Given the description of an element on the screen output the (x, y) to click on. 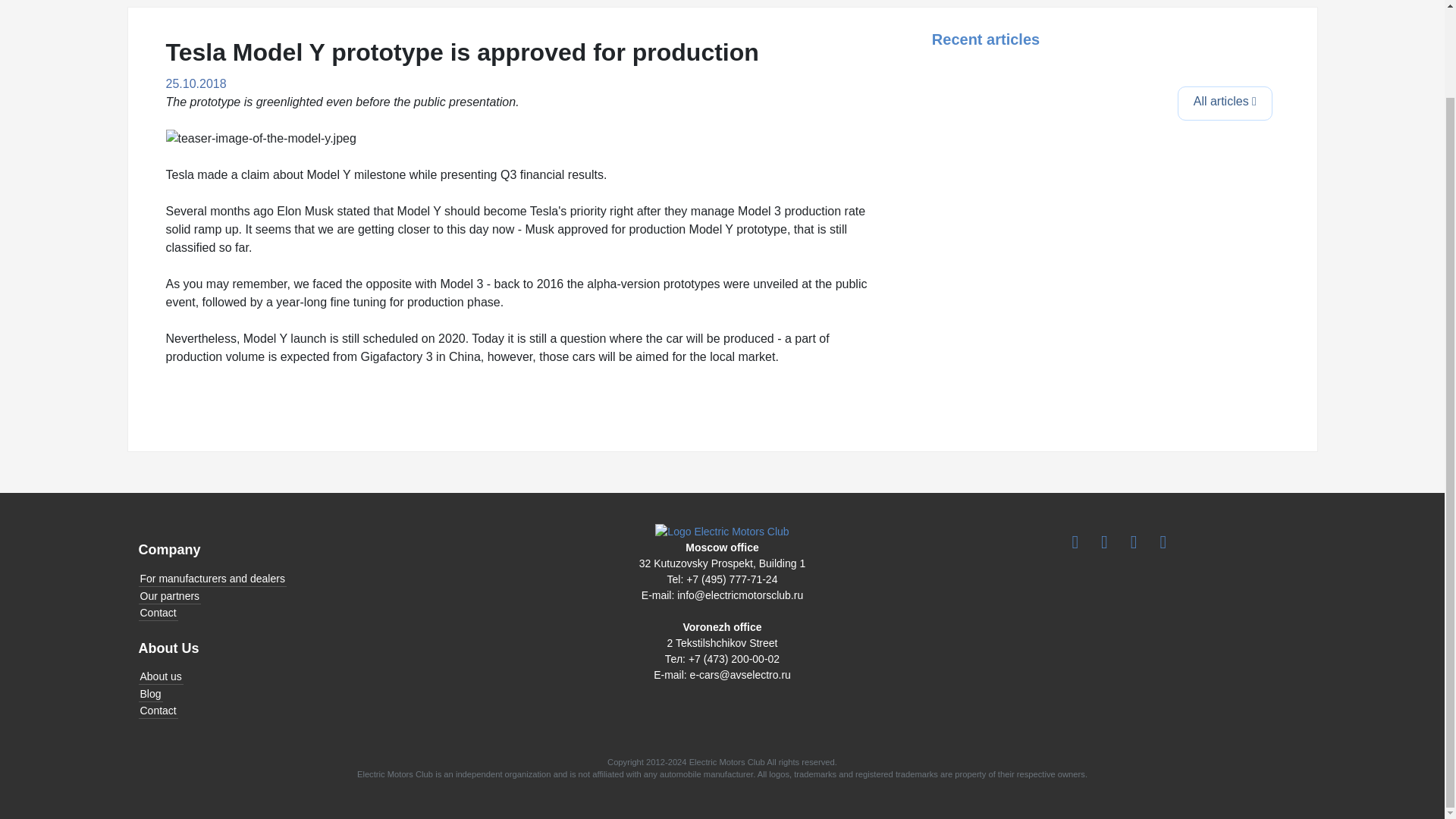
Blog (325, 693)
For manufacturers and dealers (325, 579)
Our partners (325, 596)
teaser-image-of-the-model-y.jpeg (260, 138)
Contact (325, 710)
All articles (1224, 103)
Contact (325, 612)
About us (325, 676)
